Given the description of an element on the screen output the (x, y) to click on. 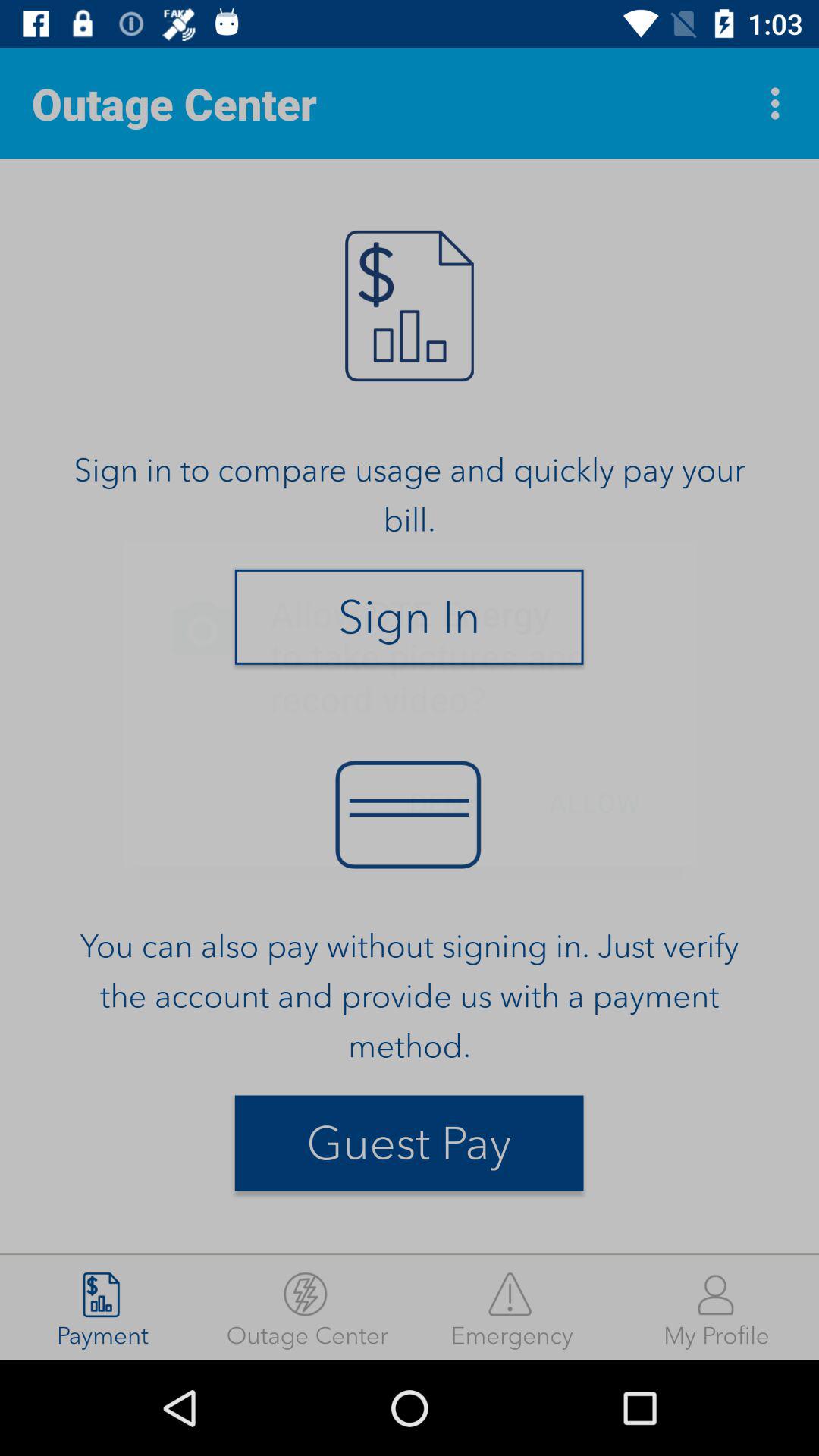
turn off the icon above sign in to (779, 103)
